Given the description of an element on the screen output the (x, y) to click on. 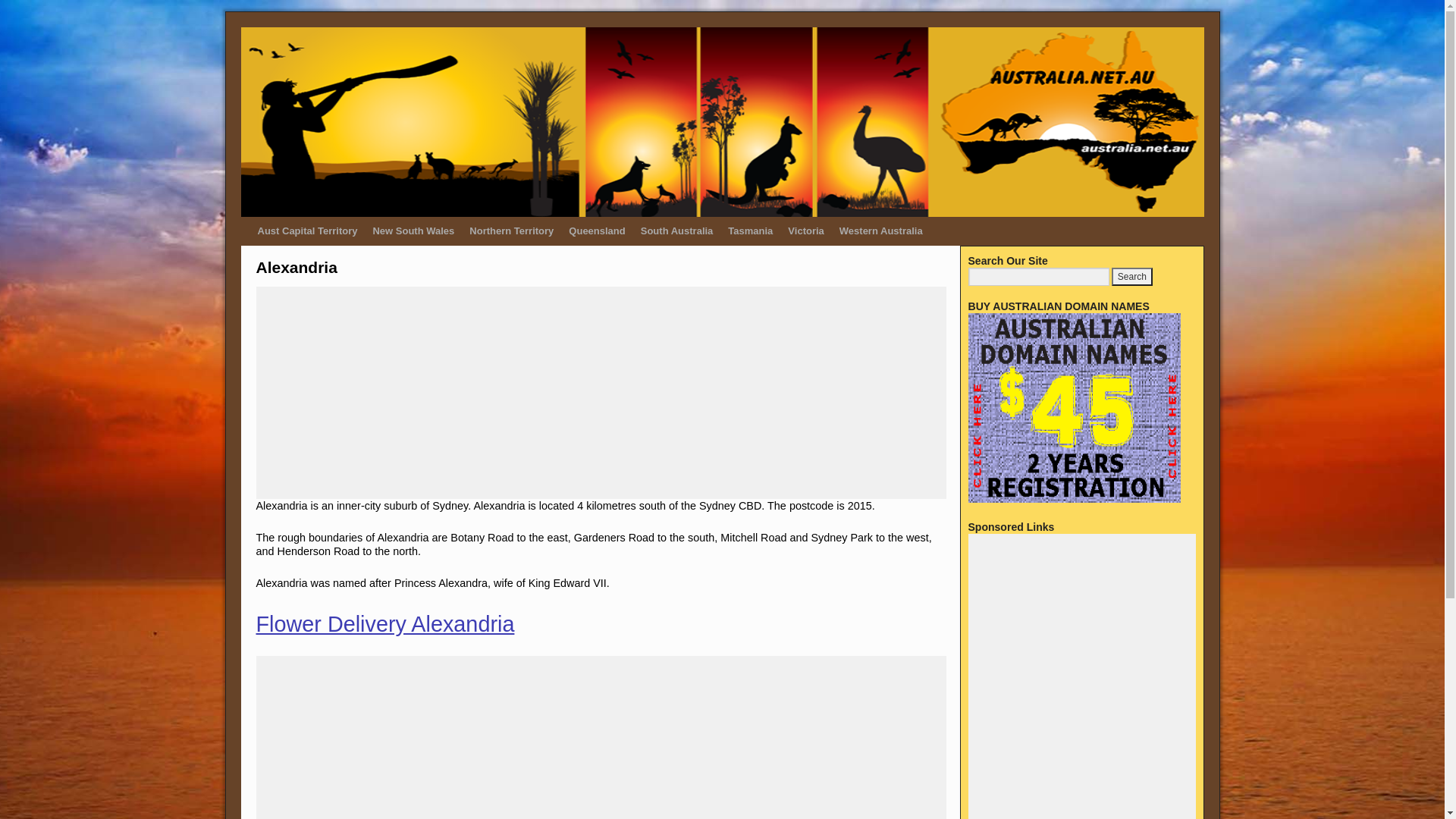
Aust Capital Territory Element type: text (307, 230)
Tasmania Element type: text (750, 230)
New South Wales Element type: text (412, 230)
South Australia Element type: text (677, 230)
Search Element type: text (1131, 276)
Advertisement Element type: hover (601, 392)
Flower Delivery Alexandria Element type: text (385, 623)
Western Australia Element type: text (880, 230)
Queensland Element type: text (596, 230)
Victoria Element type: text (805, 230)
Northern Territory Element type: text (511, 230)
Australian Internet Directory Element type: hover (722, 121)
